Given the description of an element on the screen output the (x, y) to click on. 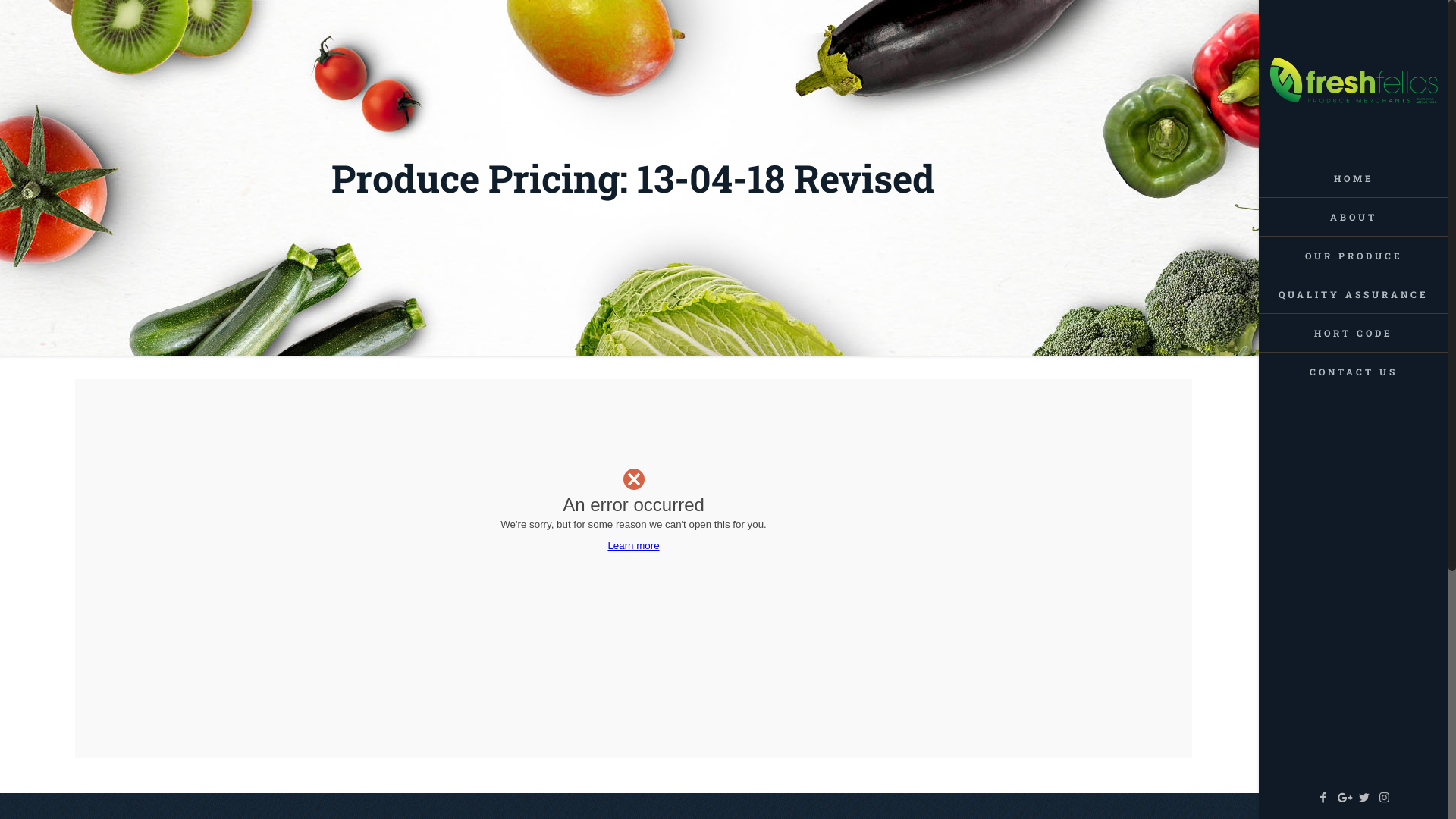
Twitter Element type: hover (1363, 797)
Fresh Fellas Element type: hover (1353, 79)
Facebook Element type: hover (1322, 797)
CONTACT US Element type: text (1353, 371)
HORT CODE Element type: text (1353, 332)
ABOUT Element type: text (1353, 216)
QUALITY ASSURANCE Element type: text (1353, 294)
HOME Element type: text (1353, 178)
Instagram Element type: hover (1384, 797)
Google+ Element type: hover (1343, 797)
OUR PRODUCE Element type: text (1353, 255)
